Given the description of an element on the screen output the (x, y) to click on. 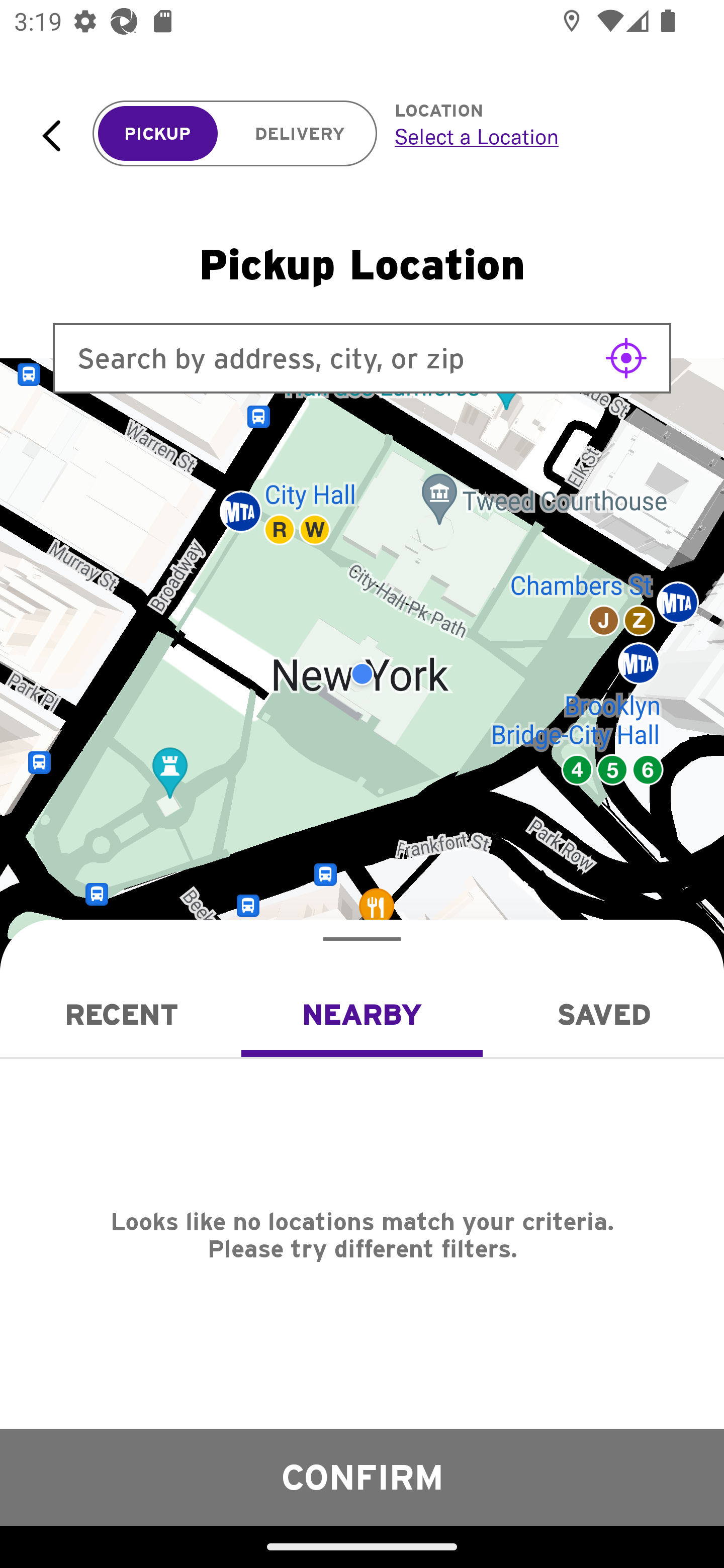
PICKUP (157, 133)
DELIVERY (299, 133)
Select a Location (536, 136)
Search by address, city, or zip (361, 358)
Google Map (362, 674)
Recent RECENT (120, 1014)
Saved SAVED (603, 1014)
CONFIRM (362, 1476)
